Given the description of an element on the screen output the (x, y) to click on. 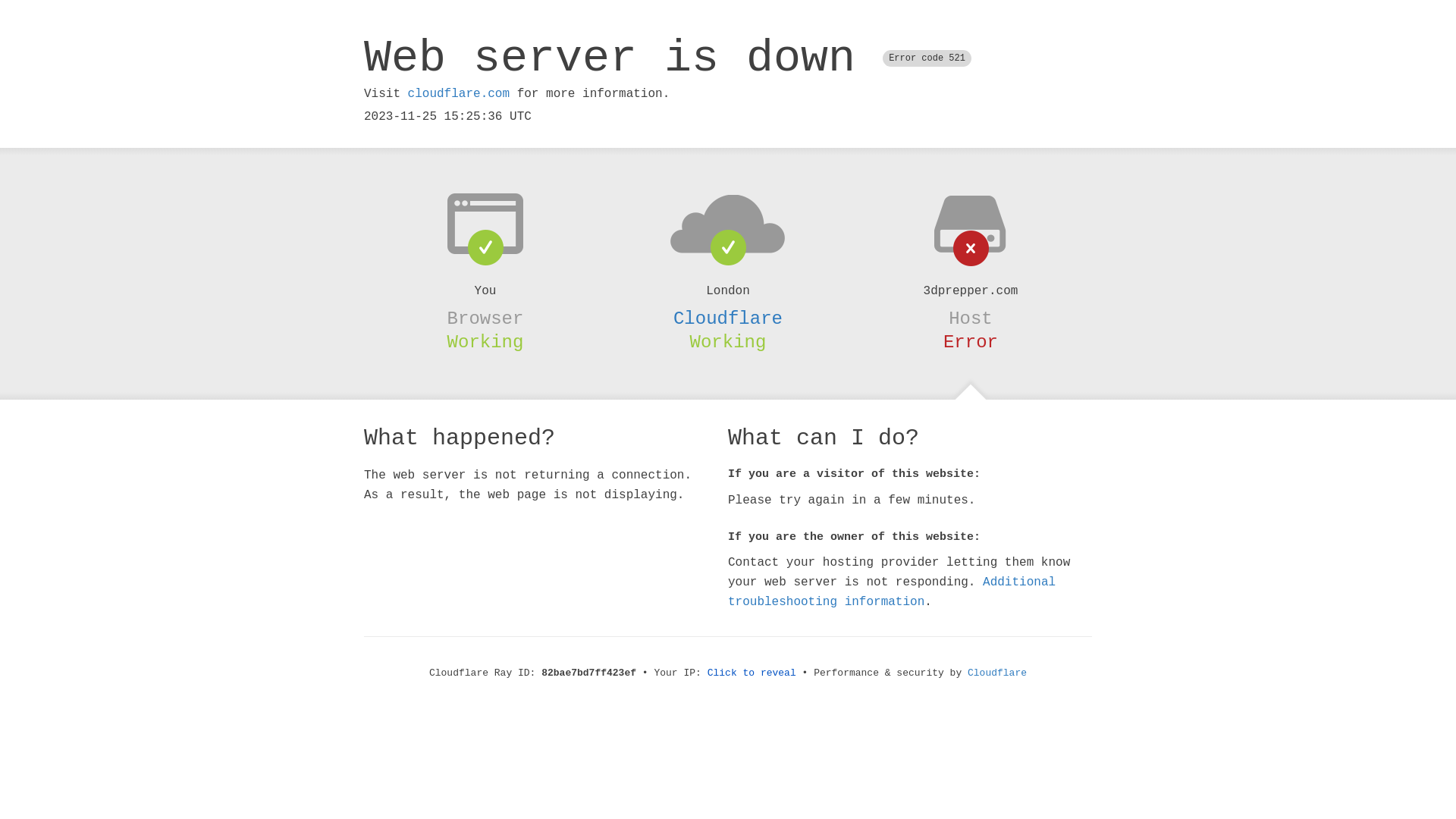
Cloudflare Element type: text (727, 318)
cloudflare.com Element type: text (458, 93)
Cloudflare Element type: text (996, 672)
Click to reveal Element type: text (751, 672)
Additional troubleshooting information Element type: text (891, 591)
